Given the description of an element on the screen output the (x, y) to click on. 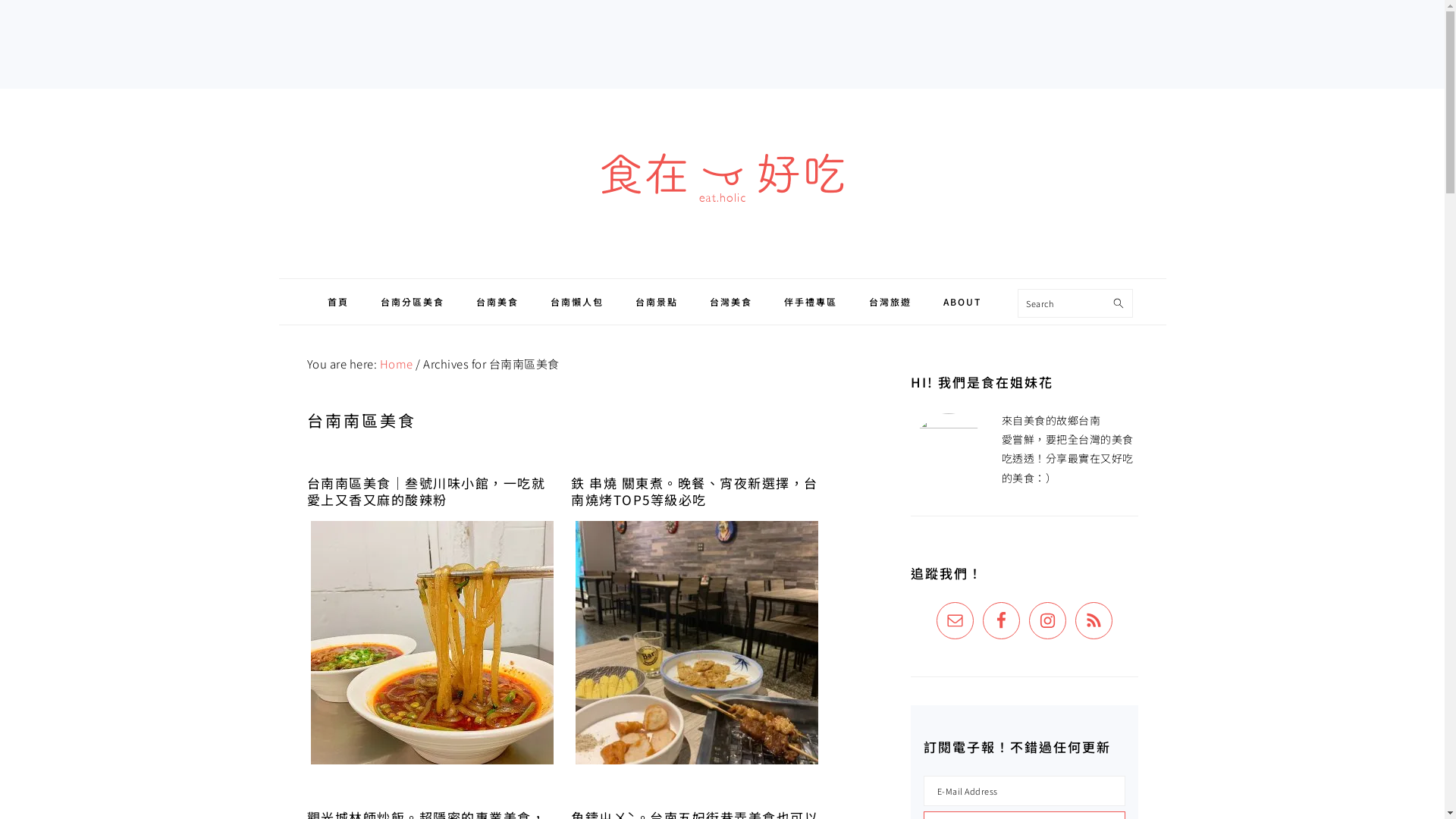
Skip to primary navigation Element type: text (0, 88)
Advertisement Element type: hover (721, 41)
ABOUT Element type: text (962, 301)
Search Element type: text (1123, 296)
Home Element type: text (395, 363)
